Given the description of an element on the screen output the (x, y) to click on. 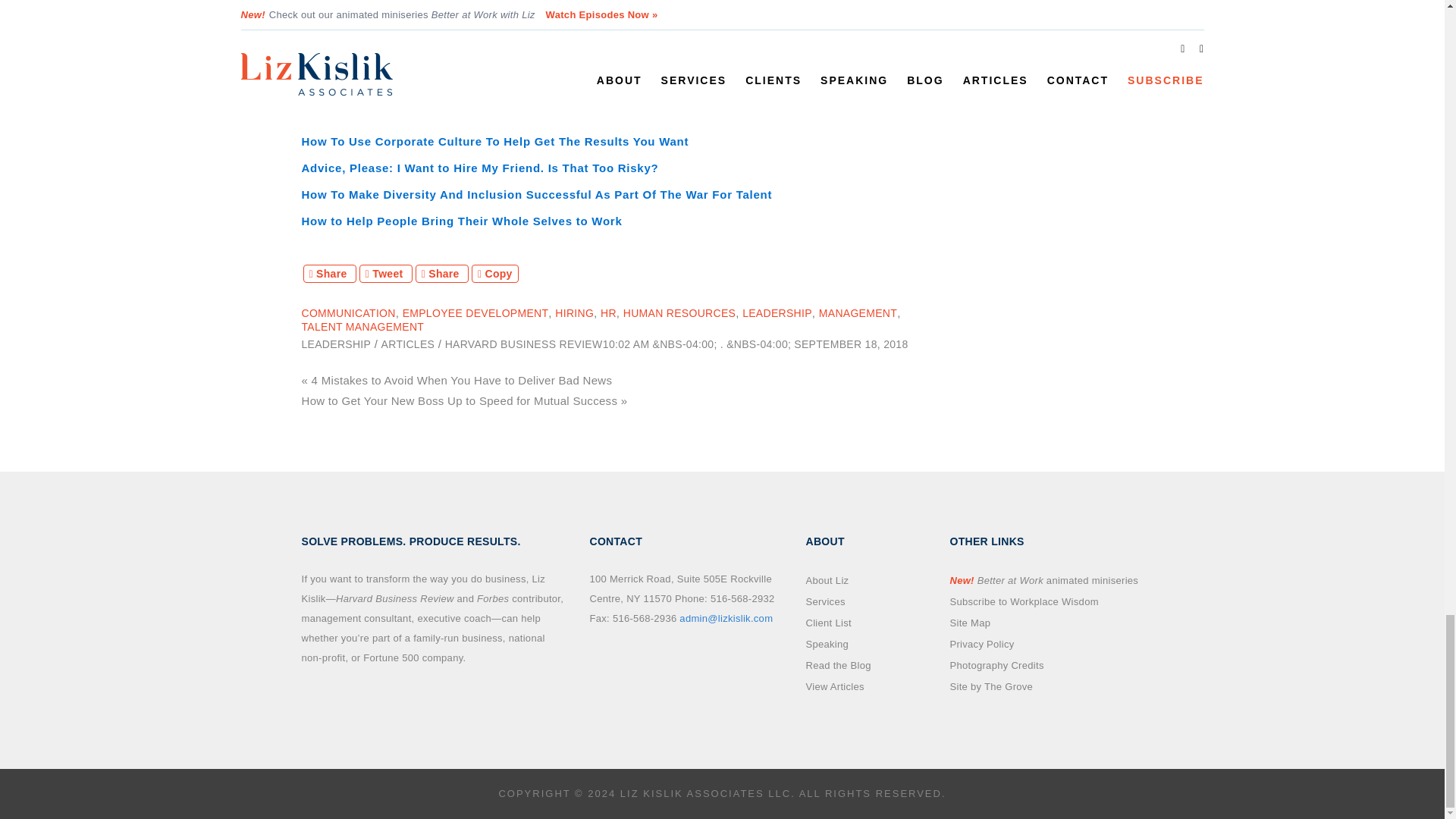
Share (329, 273)
How to Help People Bring Their Whole Selves to Work (462, 220)
Copy (494, 273)
How to Help People Bring Their Whole Selves to Work (462, 220)
Advice, Please: I Want to Hire My Friend. Is That Too Risky? (480, 167)
How to Get the Most from Your Exit Interviews (438, 114)
Tweet (385, 273)
